Given the description of an element on the screen output the (x, y) to click on. 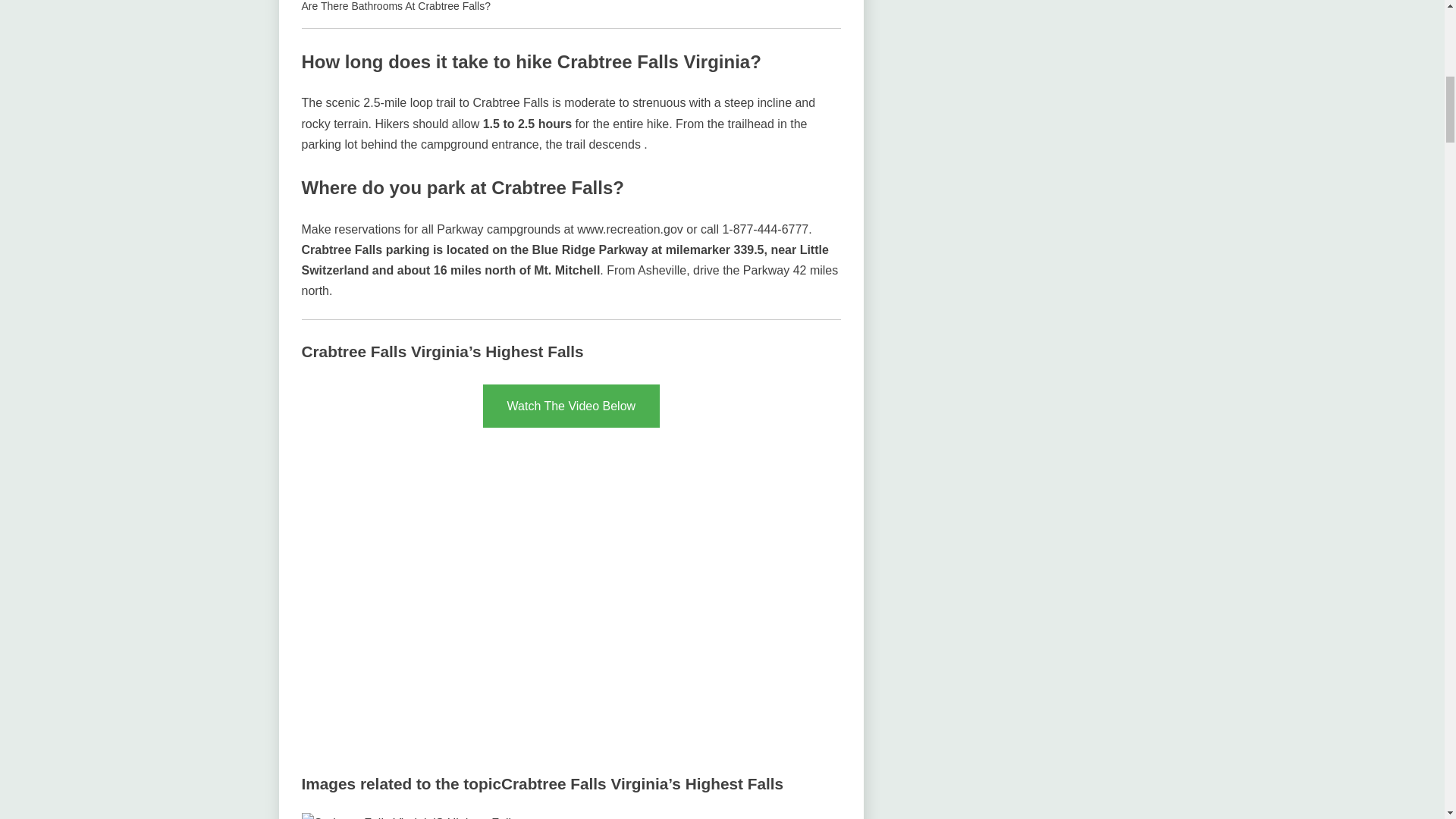
Watch The Video Below (572, 405)
